Given the description of an element on the screen output the (x, y) to click on. 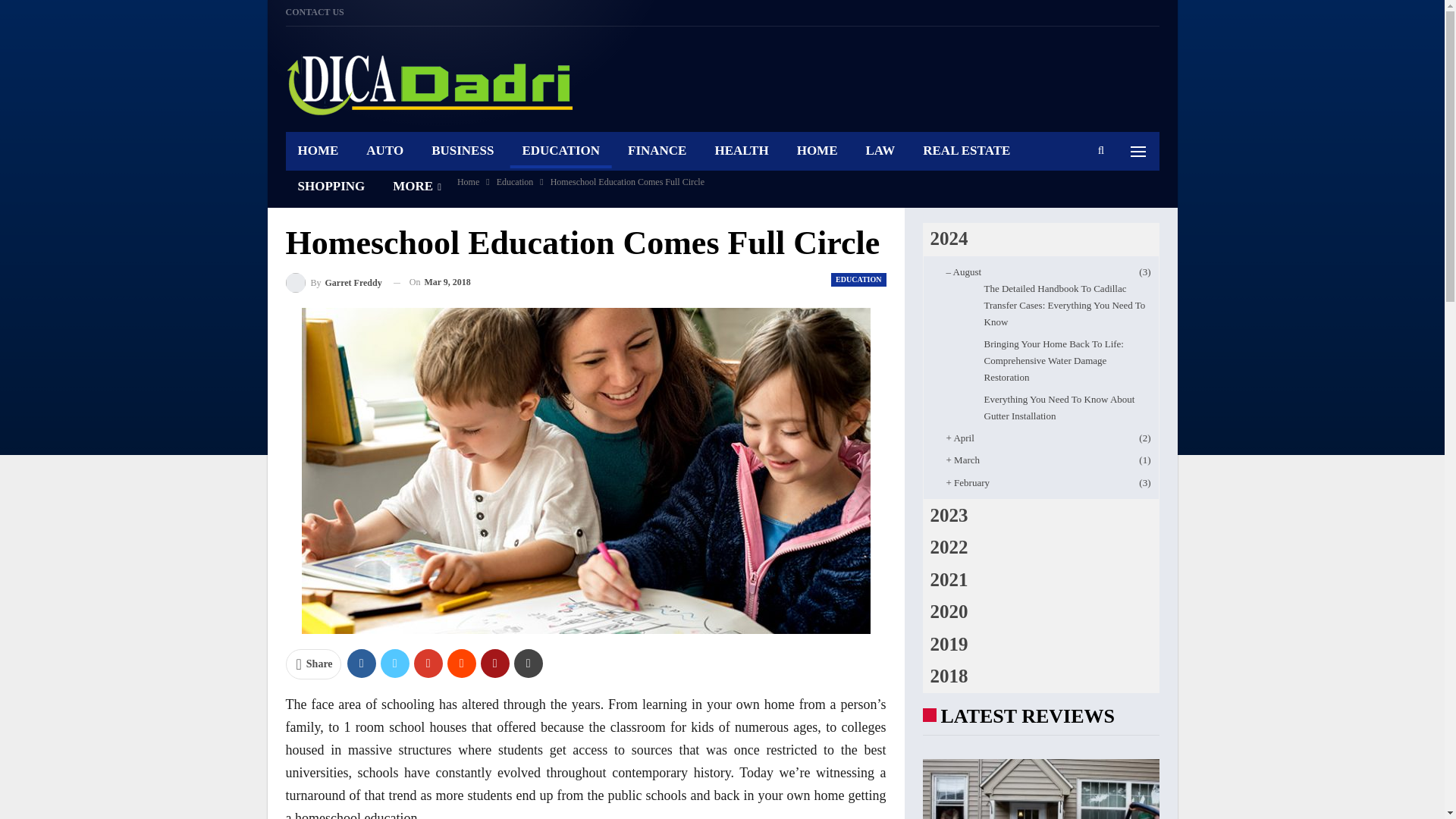
Home (468, 181)
FINANCE (656, 150)
LAW (880, 150)
HOME (817, 150)
By Garret Freddy (333, 281)
SHOPPING (331, 185)
EDUCATION (560, 150)
HEALTH (740, 150)
REAL ESTATE (966, 150)
